Given the description of an element on the screen output the (x, y) to click on. 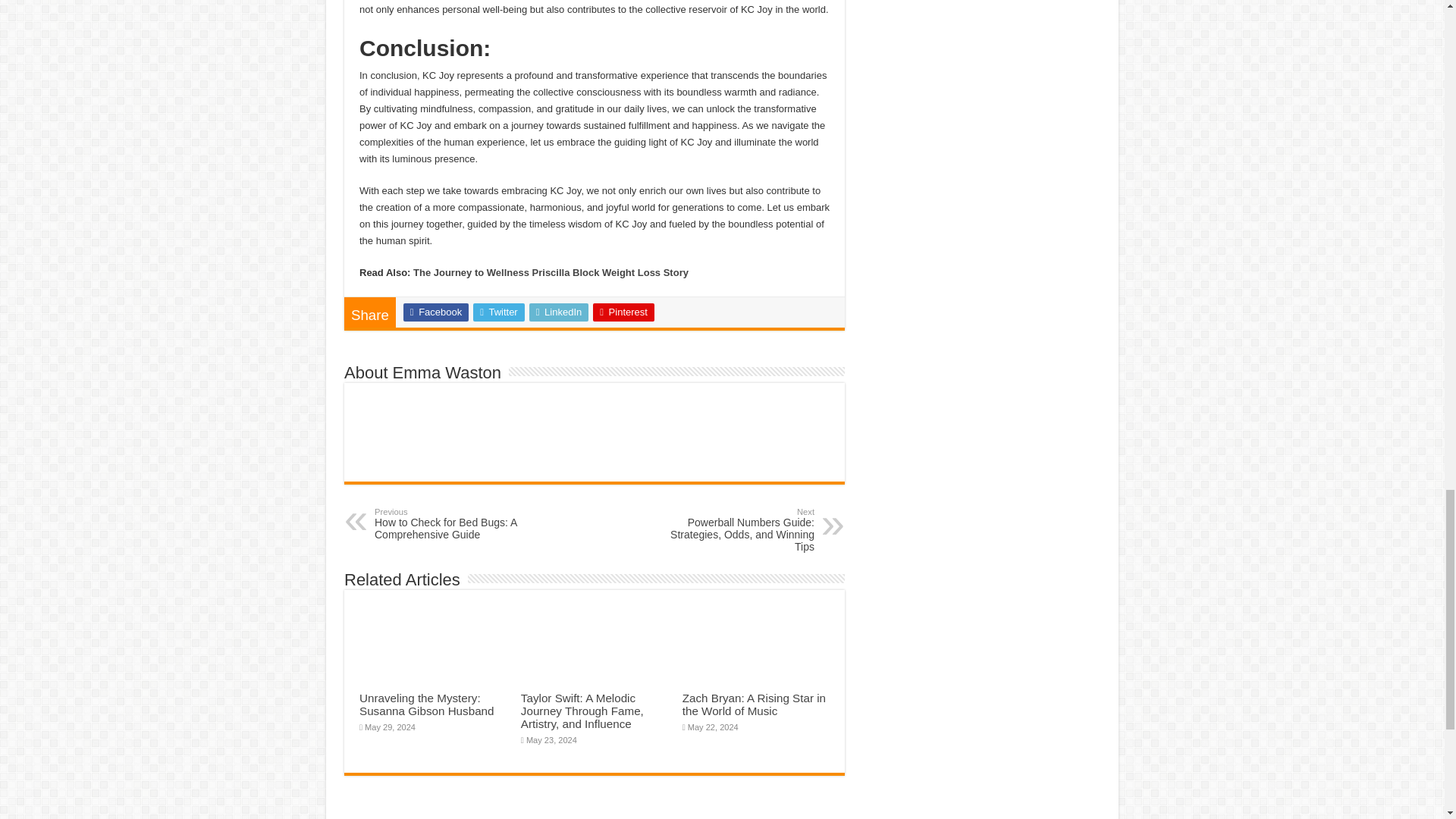
Facebook (435, 312)
The Journey to Wellness Priscilla Block Weight Loss Story (550, 272)
Twitter (498, 312)
LinkedIn (559, 312)
